Given the description of an element on the screen output the (x, y) to click on. 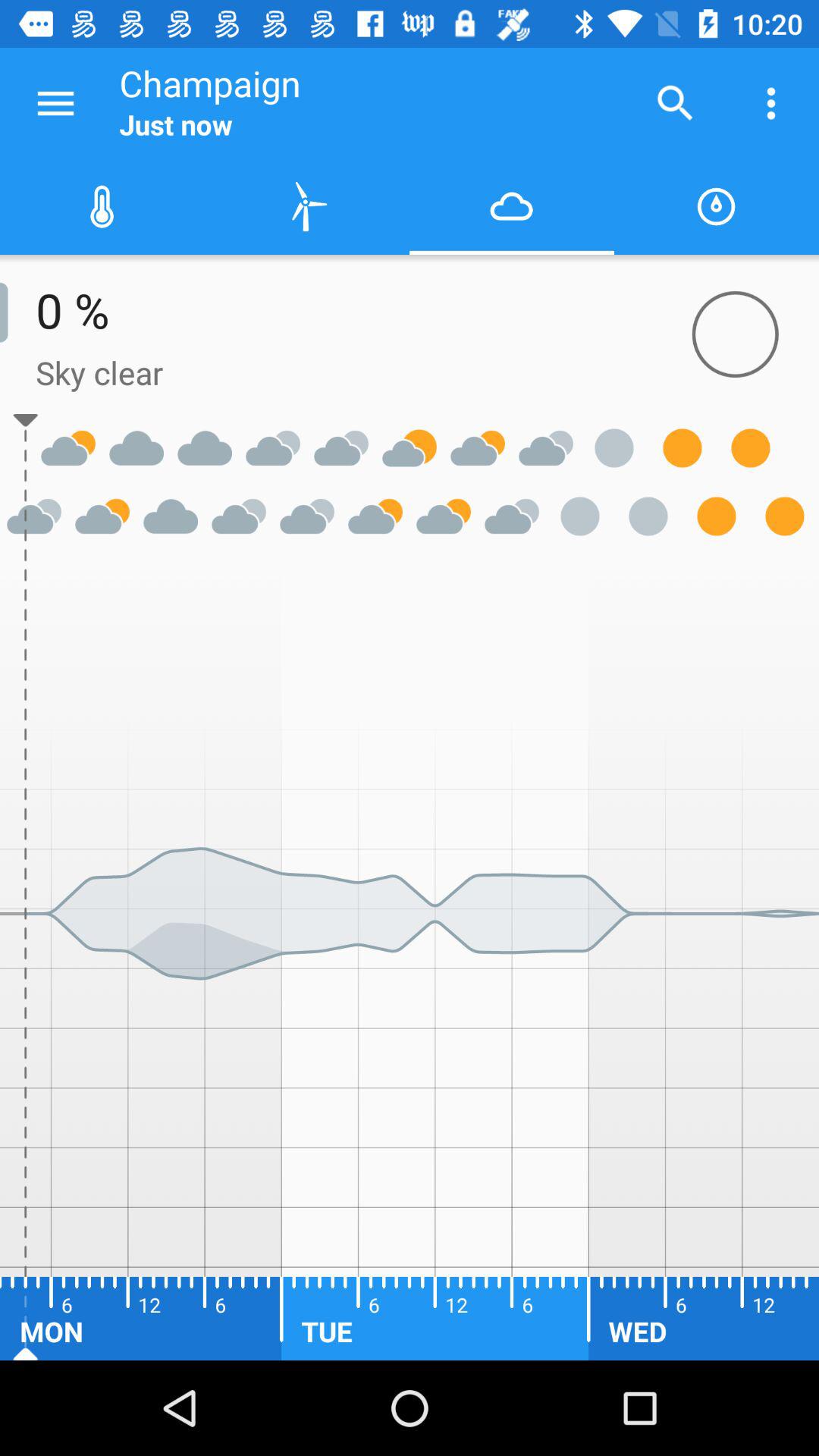
navigation menu (55, 103)
